Given the description of an element on the screen output the (x, y) to click on. 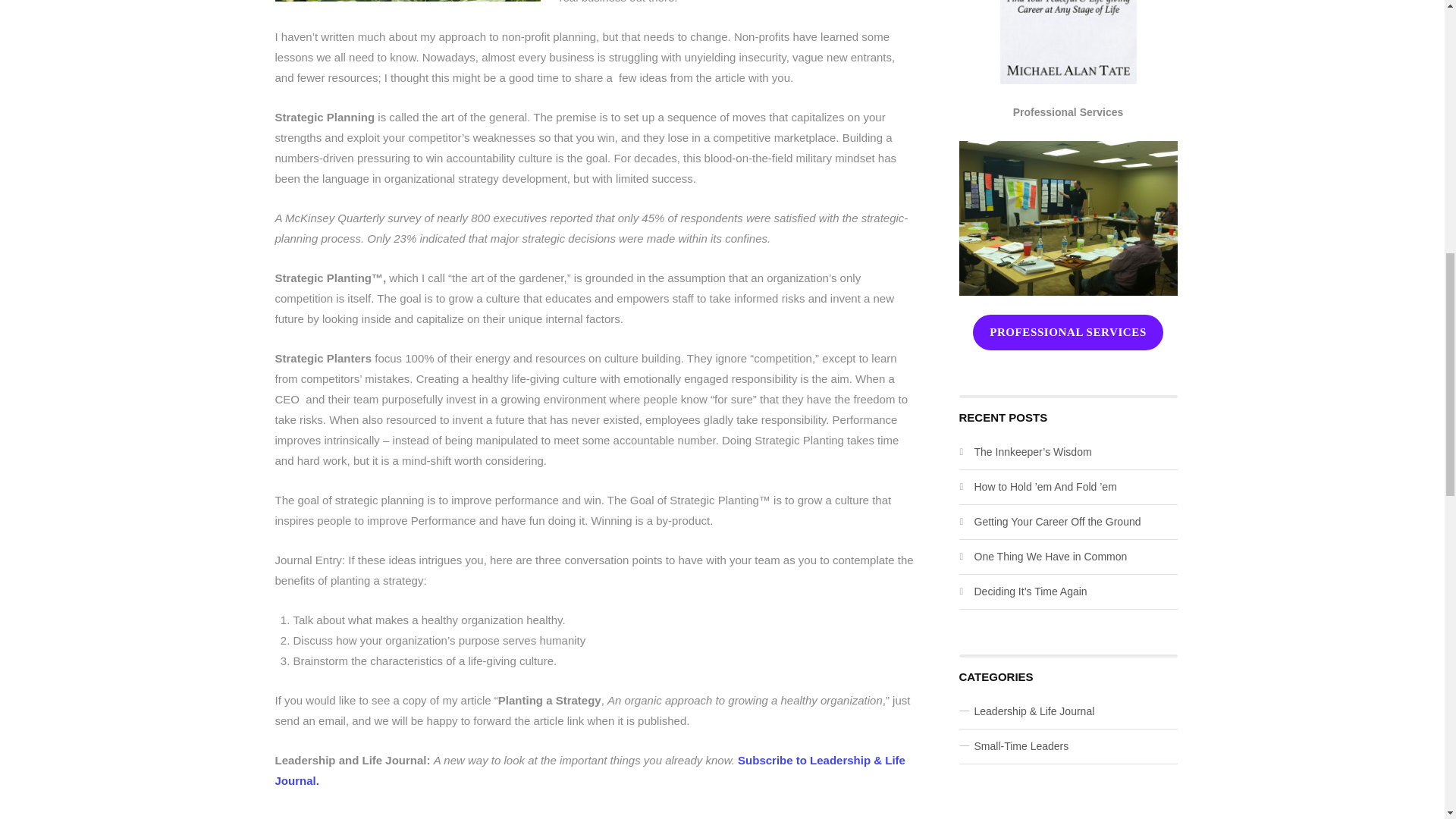
One Thing We Have in Common (1050, 556)
Getting Your Career Off the Ground (1057, 521)
PROFESSIONAL SERVICES (1067, 332)
